Given the description of an element on the screen output the (x, y) to click on. 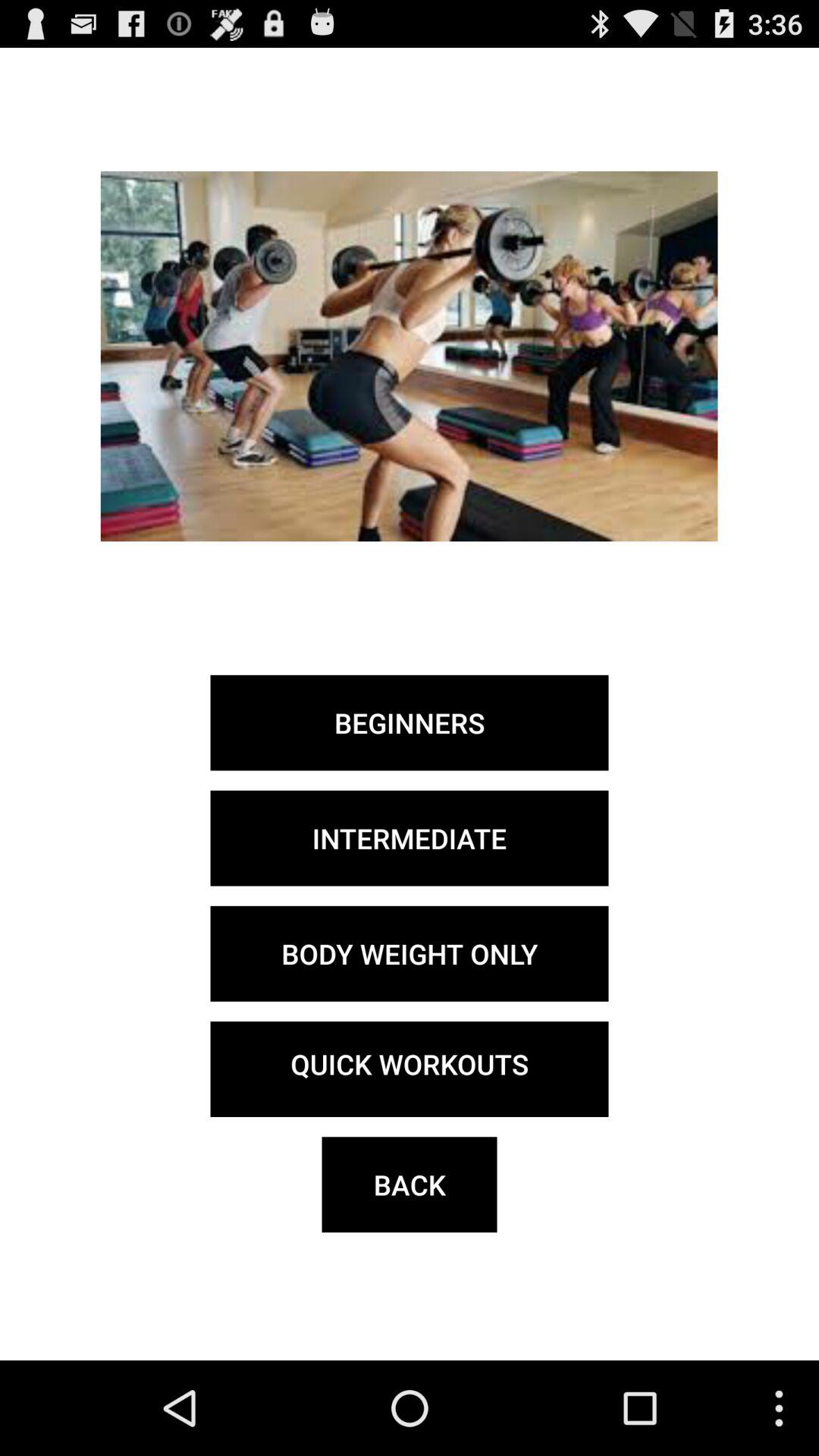
select the button above the quick workouts (409, 953)
